Given the description of an element on the screen output the (x, y) to click on. 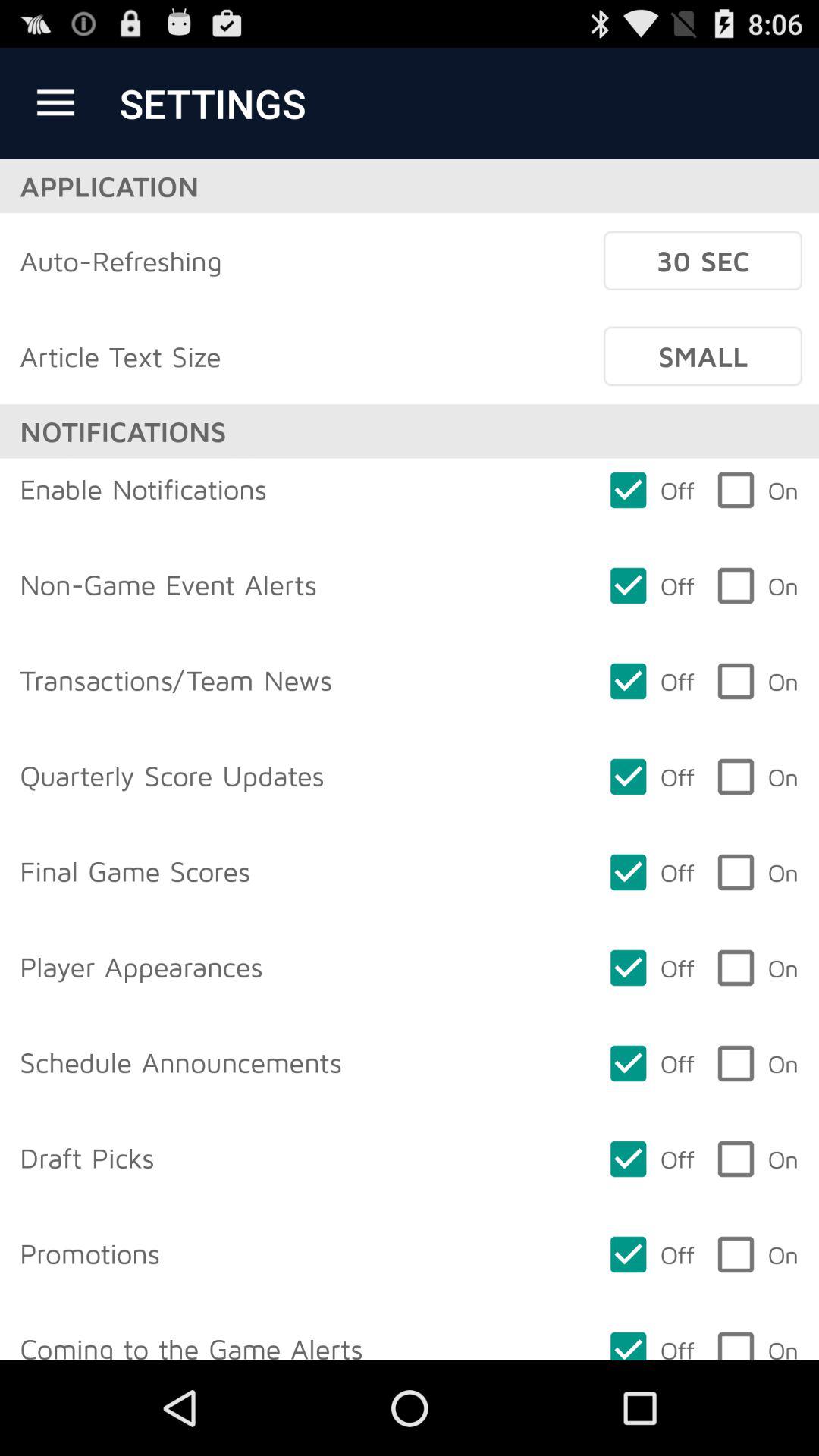
launch icon next to settings icon (55, 103)
